Given the description of an element on the screen output the (x, y) to click on. 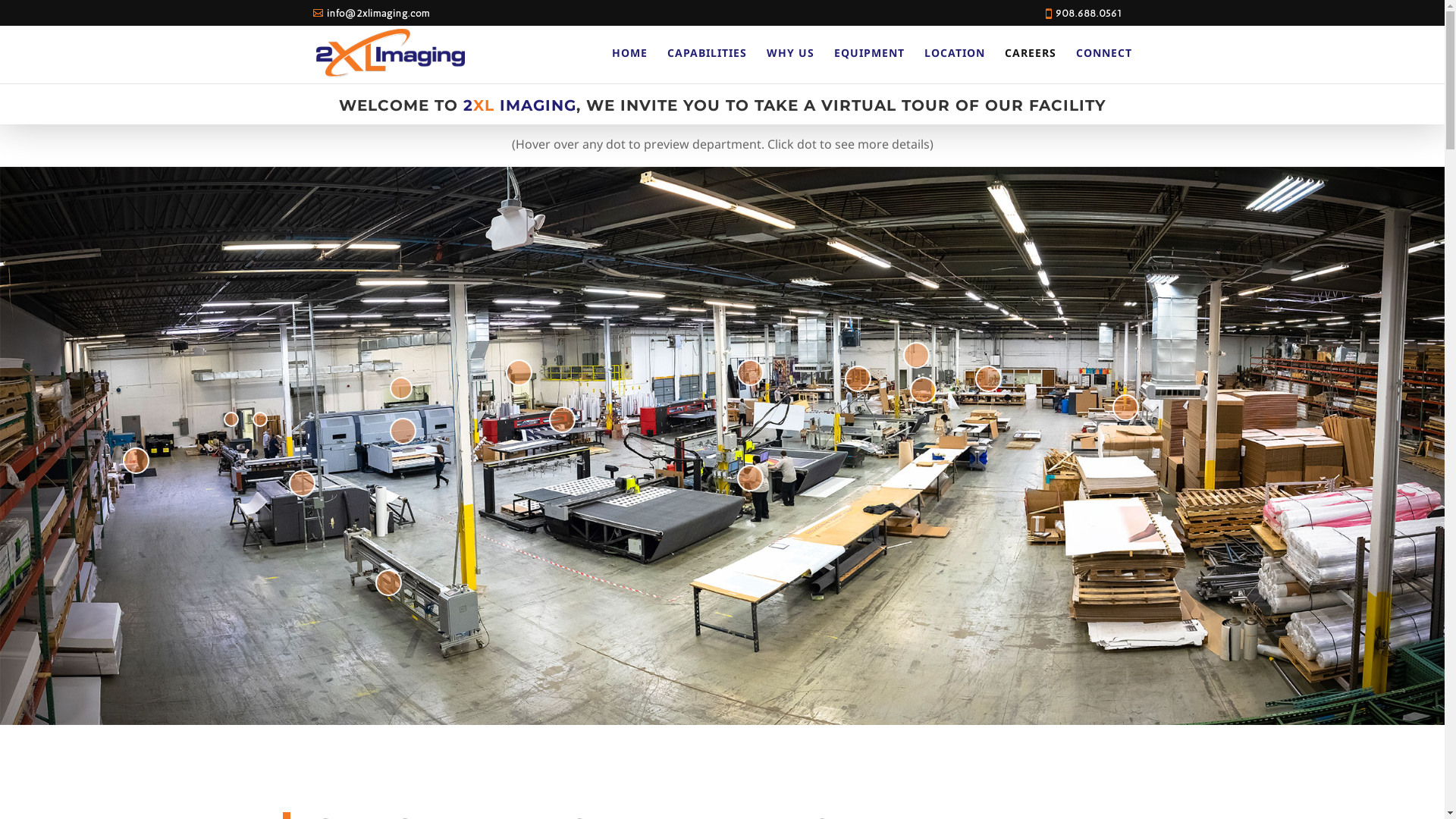
CAPABILITIES Element type: text (706, 65)
CONNECT Element type: text (1103, 65)
WHY US Element type: text (789, 65)
EQUIPMENT Element type: text (869, 65)
LOCATION Element type: text (953, 65)
HOME Element type: text (628, 65)
CAREERS Element type: text (1029, 65)
info@2xlimaging.com Element type: text (370, 12)
908.688.0561 Element type: text (1088, 12)
